Given the description of an element on the screen output the (x, y) to click on. 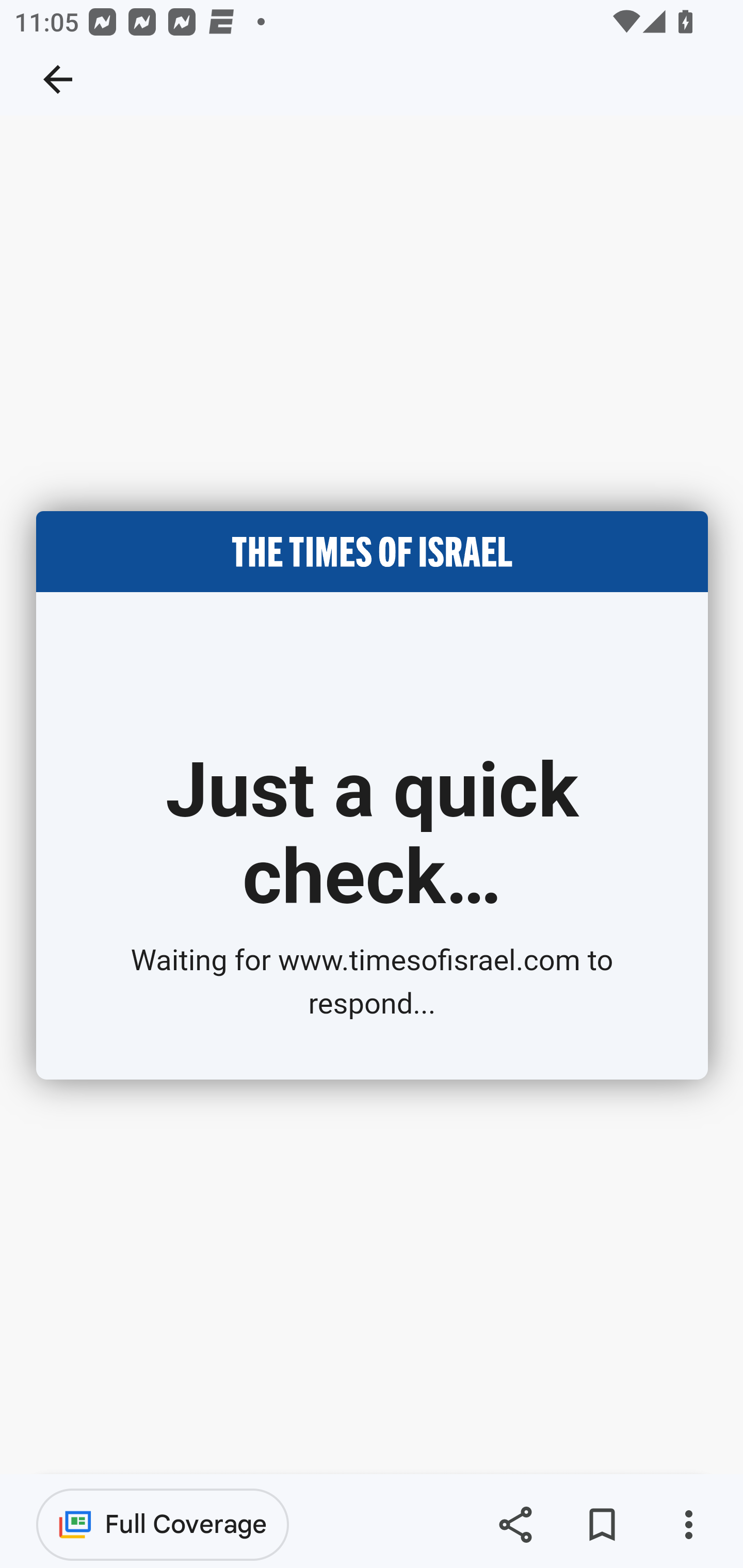
Navigate up (57, 79)
Share (514, 1524)
Save for later (601, 1524)
More options (688, 1524)
Full Coverage (162, 1524)
